Given the description of an element on the screen output the (x, y) to click on. 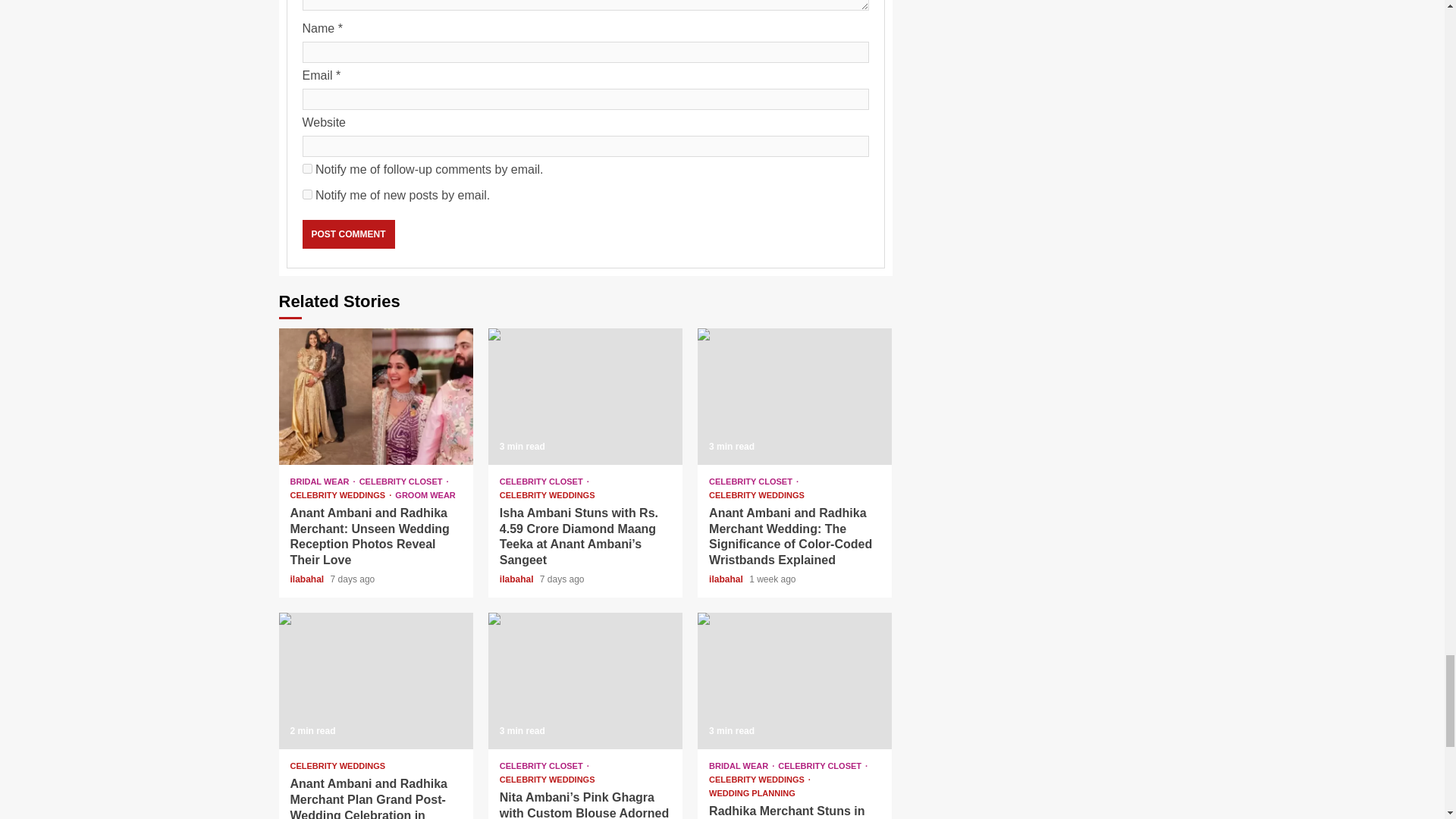
subscribe (306, 194)
Post Comment (347, 234)
subscribe (306, 168)
